Given the description of an element on the screen output the (x, y) to click on. 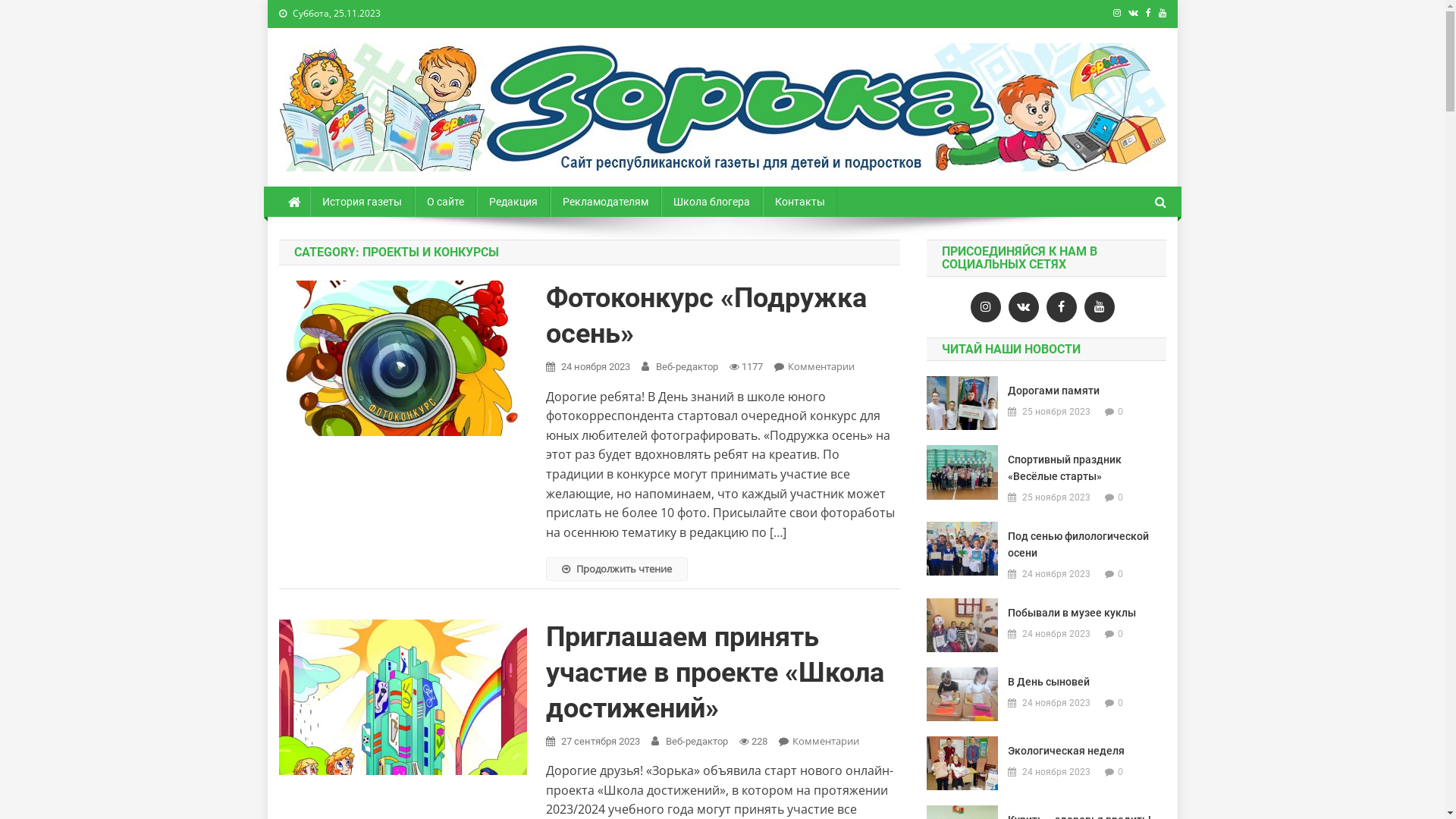
0 Element type: text (1120, 411)
0 Element type: text (1120, 573)
0 Element type: text (1120, 633)
0 Element type: text (1120, 771)
0 Element type: text (1120, 702)
0 Element type: text (1120, 496)
